Given the description of an element on the screen output the (x, y) to click on. 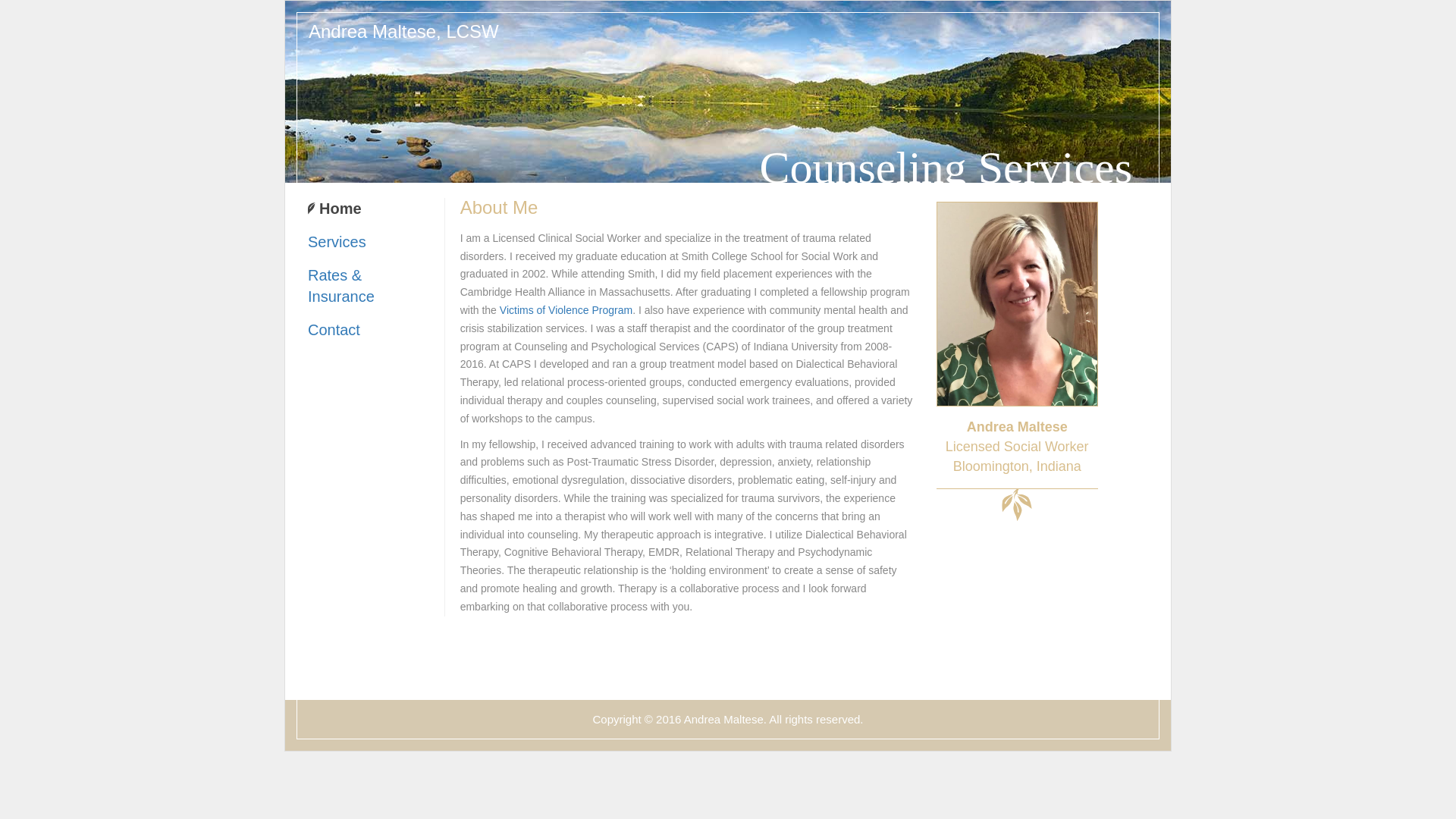
Contact (333, 329)
Victims of Violence Program (565, 309)
Services (336, 241)
